Given the description of an element on the screen output the (x, y) to click on. 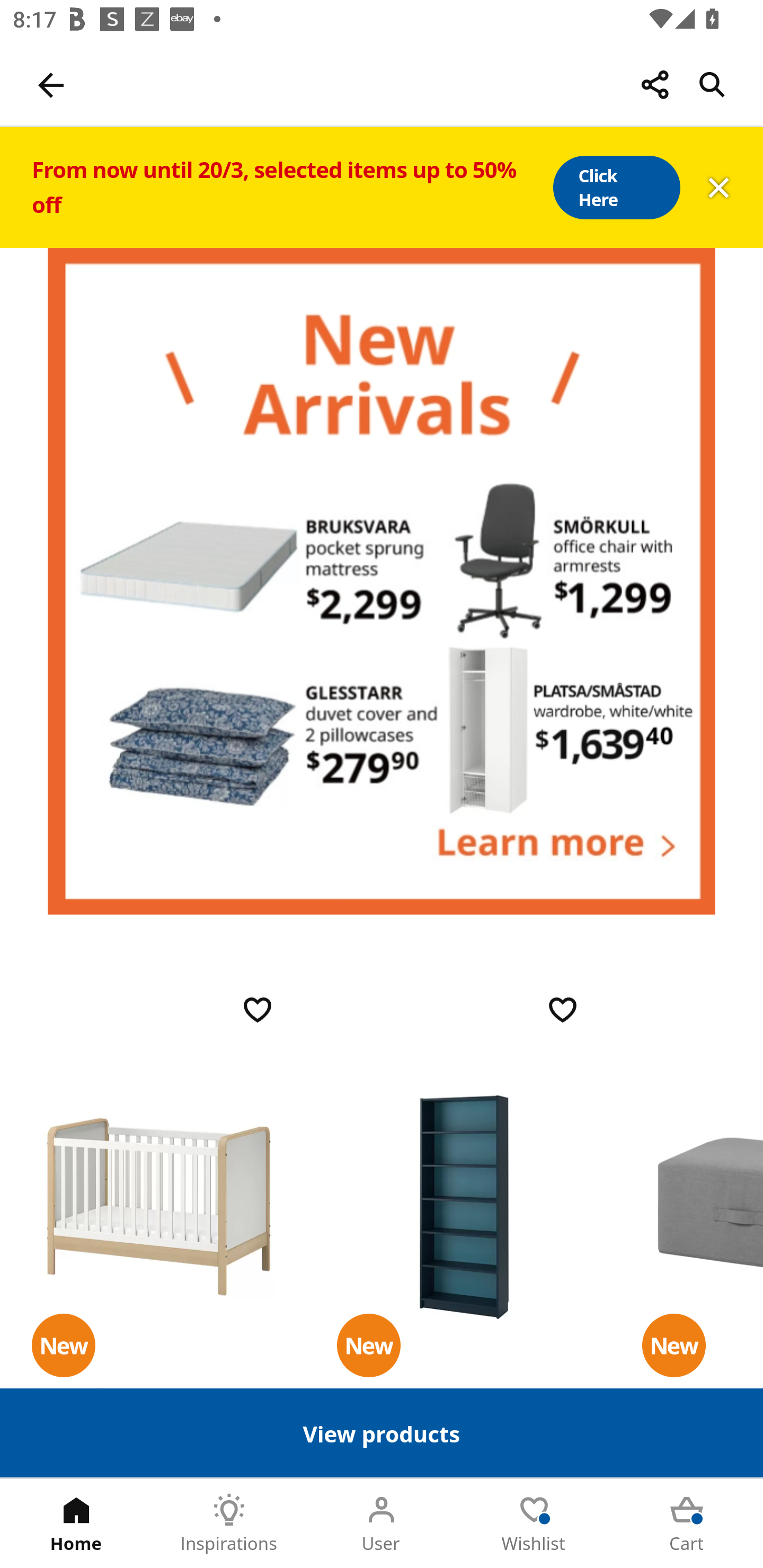
Click Here (615, 187)
newitems#shop-now (381, 580)
ÄLSKVÄRD (159, 1206)
BILLY (464, 1206)
View products (381, 1432)
Home
Tab 1 of 5 (76, 1522)
Inspirations
Tab 2 of 5 (228, 1522)
User
Tab 3 of 5 (381, 1522)
Wishlist
Tab 4 of 5 (533, 1522)
Cart
Tab 5 of 5 (686, 1522)
